Given the description of an element on the screen output the (x, y) to click on. 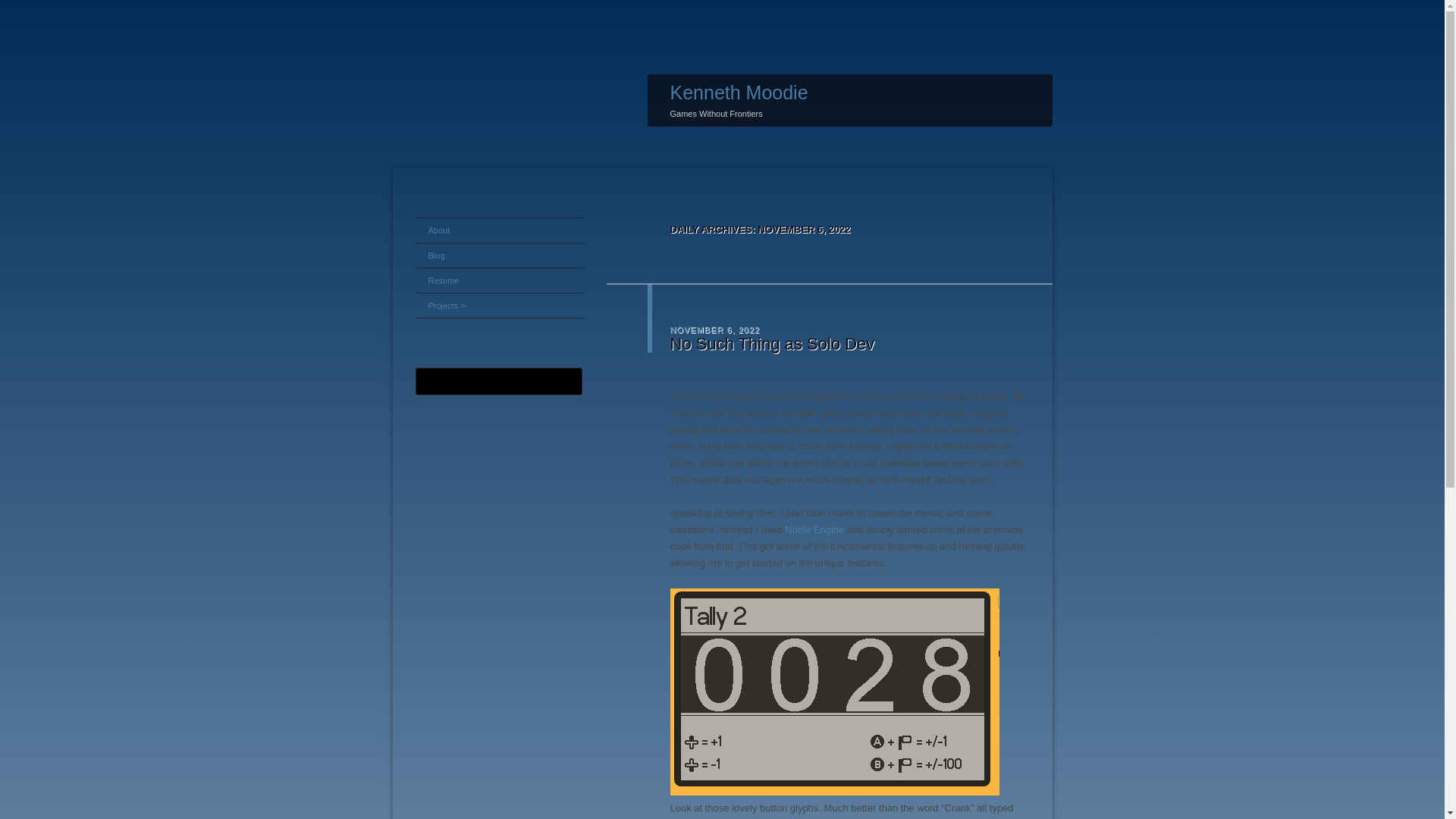
Noble Engine (814, 528)
2:01 pm (714, 328)
Resume (498, 280)
NOVEMBER 6, 2022 (714, 328)
About (498, 230)
No Such Thing as Solo Dev (772, 342)
Kenneth Moodie (738, 92)
Search (21, 7)
Kenneth Moodie (738, 92)
Blog (498, 254)
